Given the description of an element on the screen output the (x, y) to click on. 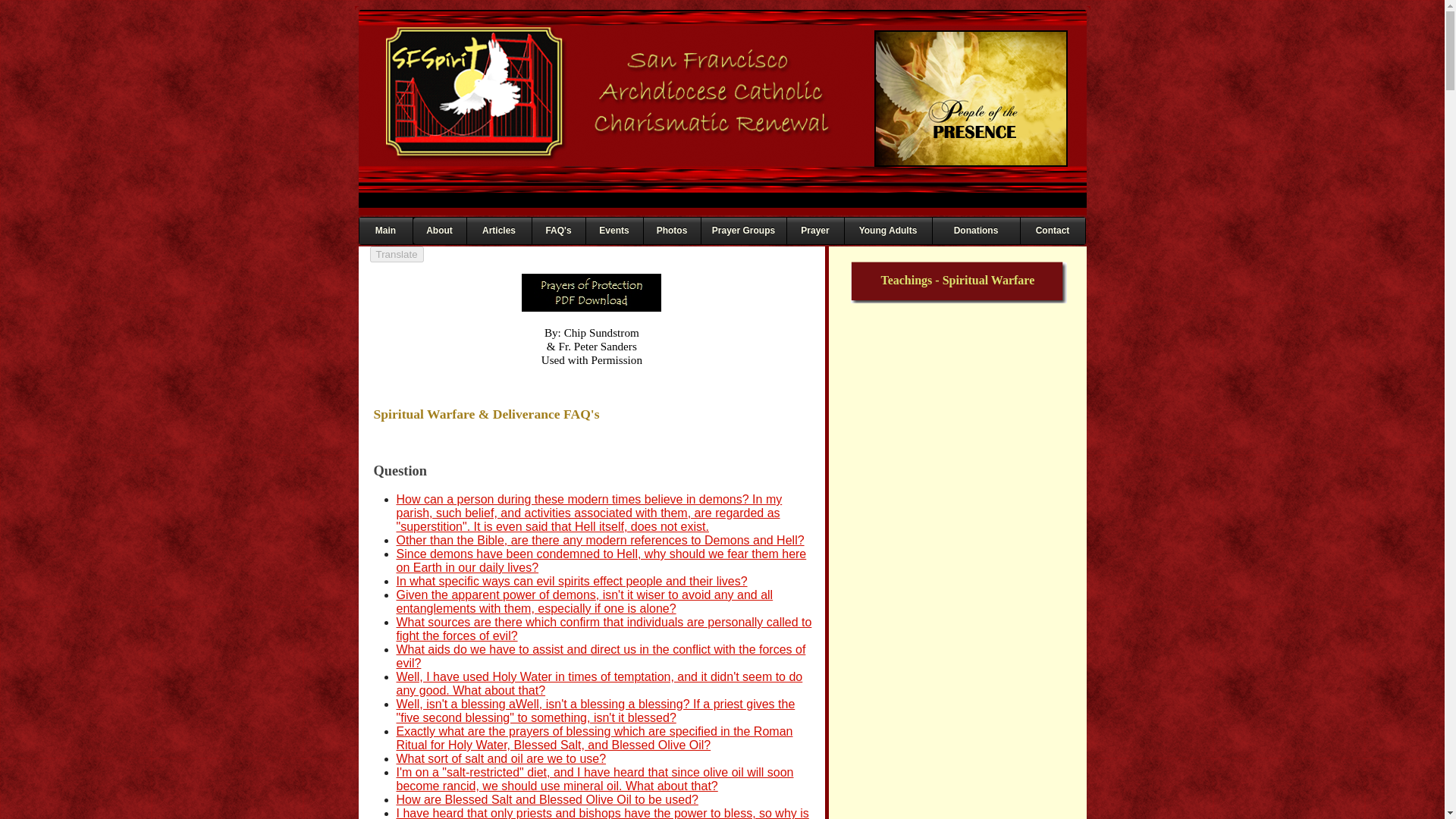
Young Adults (887, 230)
Translate this page (396, 254)
Events (613, 230)
Contact (1052, 230)
Photos (671, 230)
Articles (499, 230)
Main (385, 230)
Prayer Groups (743, 230)
Translate (396, 254)
Donations (976, 230)
Prayer (815, 230)
About (438, 230)
FAQ's (558, 230)
